Given the description of an element on the screen output the (x, y) to click on. 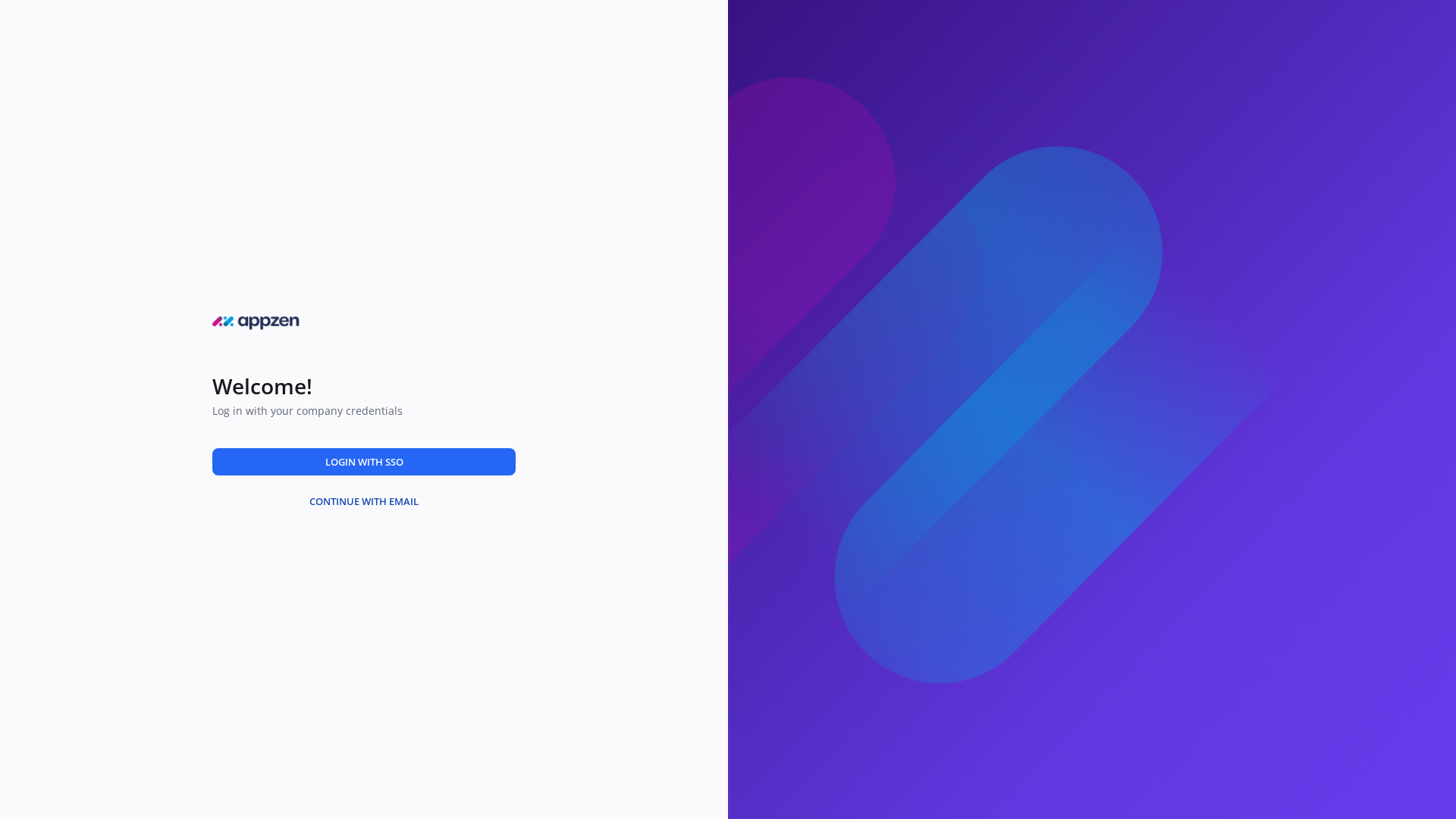
CONTINUE WITH EMAIL Element type: text (363, 500)
LOGIN WITH SSO Element type: text (363, 460)
